Given the description of an element on the screen output the (x, y) to click on. 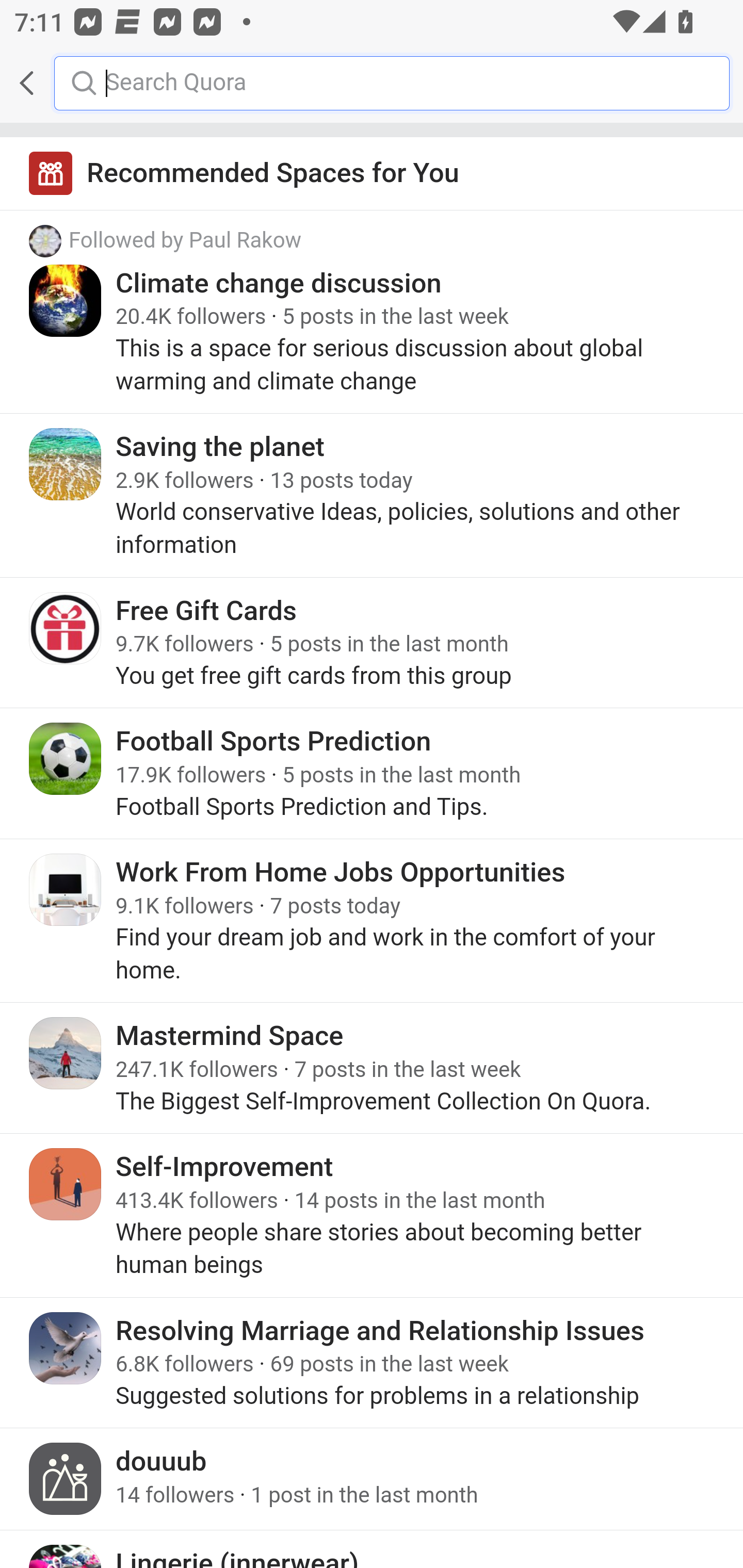
Me Home Search Add (371, 82)
Icon for Climate change discussion (65, 300)
Icon for Saving the planet (65, 464)
Icon for Free Gift Cards (65, 627)
Icon for Football Sports Prediction (65, 759)
Icon for Work From Home Jobs Opportunities (65, 889)
Icon for Mastermind Space (65, 1052)
Icon for Self-Improvement (65, 1184)
Icon for douuub (65, 1479)
